Given the description of an element on the screen output the (x, y) to click on. 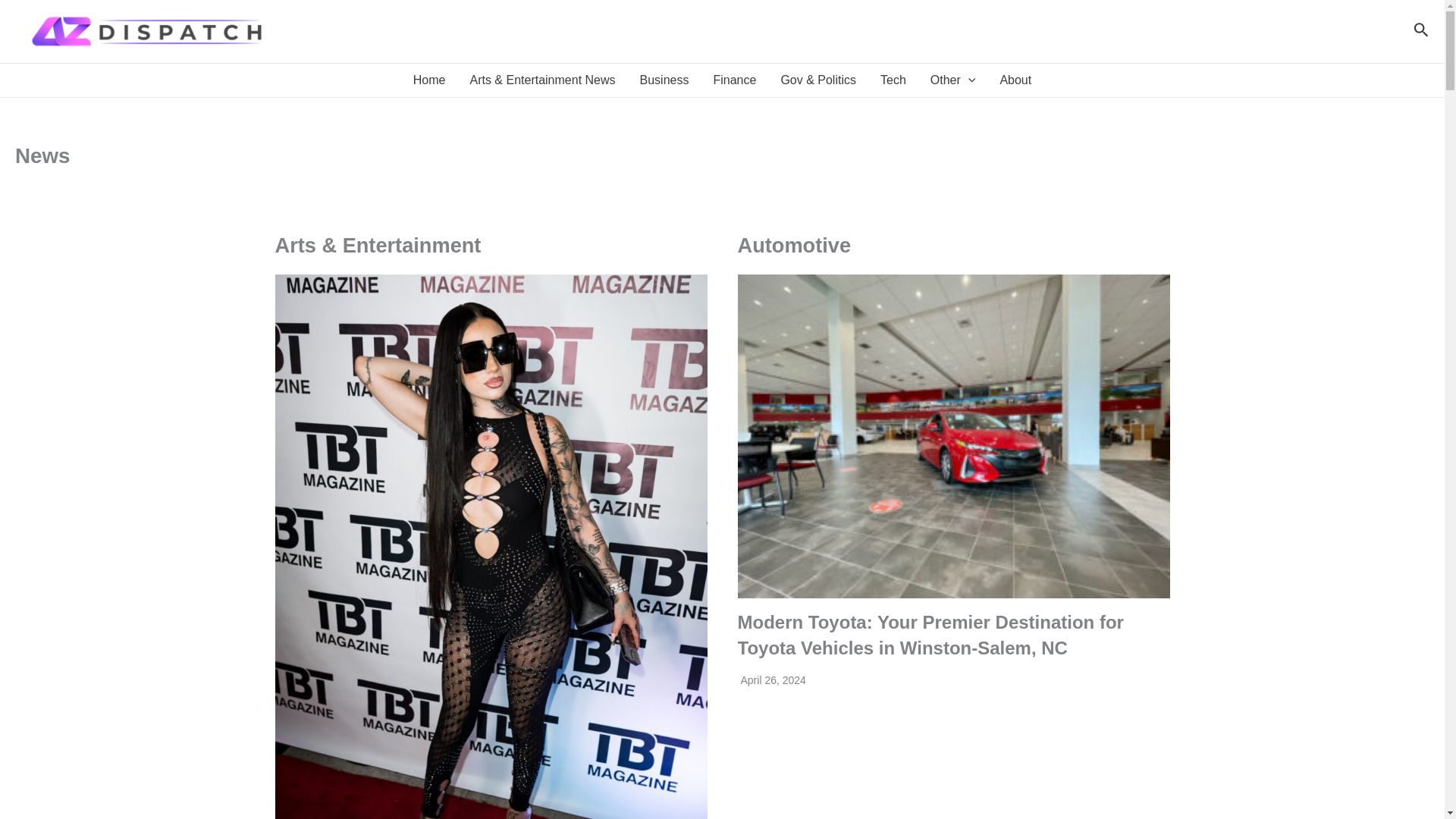
Tech (892, 80)
Other (953, 80)
Home (429, 80)
Finance (734, 80)
About (1015, 80)
Business (664, 80)
